Given the description of an element on the screen output the (x, y) to click on. 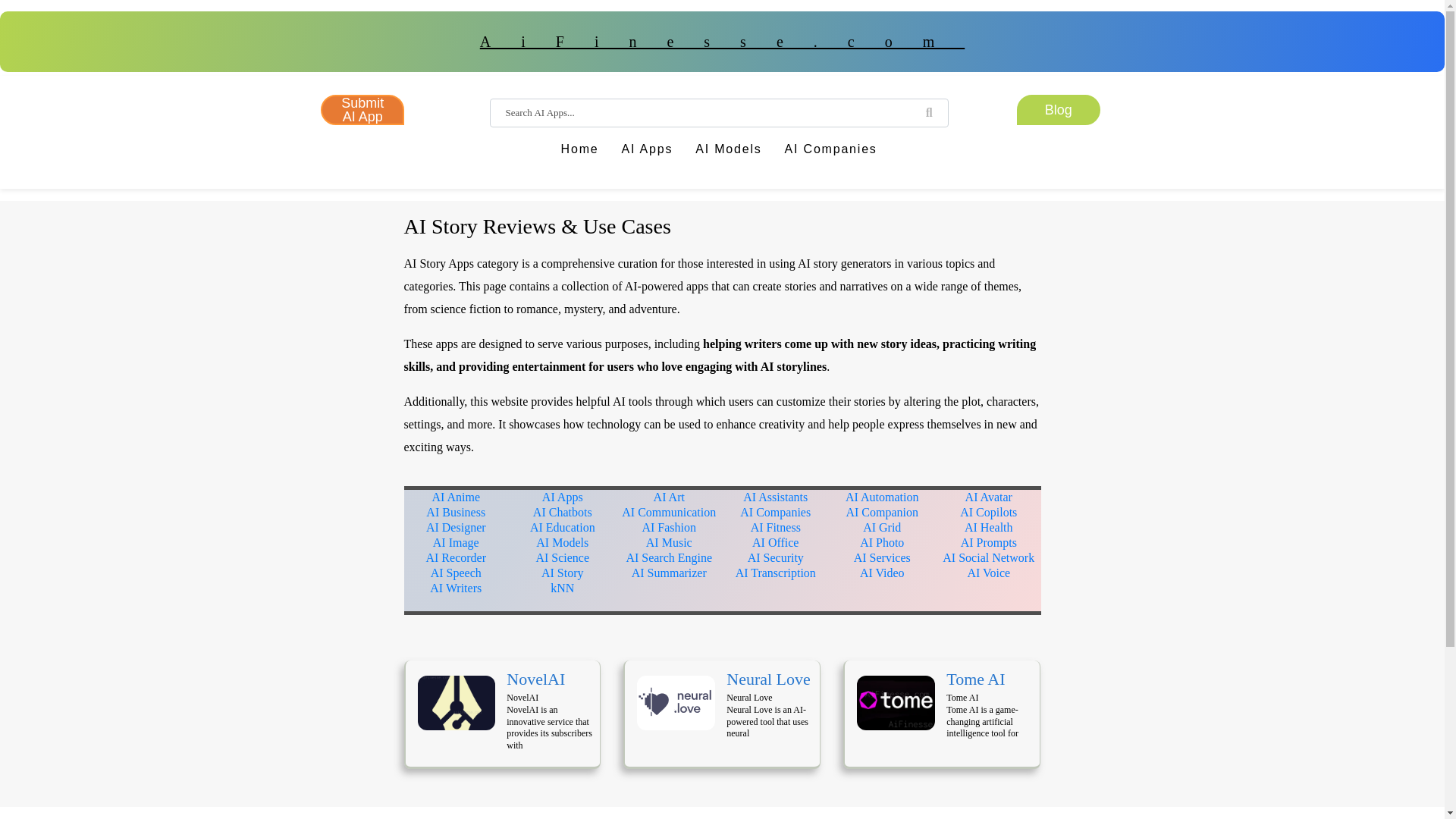
AI Apps (646, 154)
AI Apps (562, 496)
Home (579, 154)
Blog (1058, 110)
AI Science (562, 557)
AI Education (562, 526)
AI Business (455, 512)
AI Music (669, 542)
AI Photo (882, 542)
AI Grid (882, 526)
AI Art (668, 496)
AI Image (455, 542)
AI Companies (774, 512)
AI Models (561, 542)
AI Recorder (455, 557)
